Given the description of an element on the screen output the (x, y) to click on. 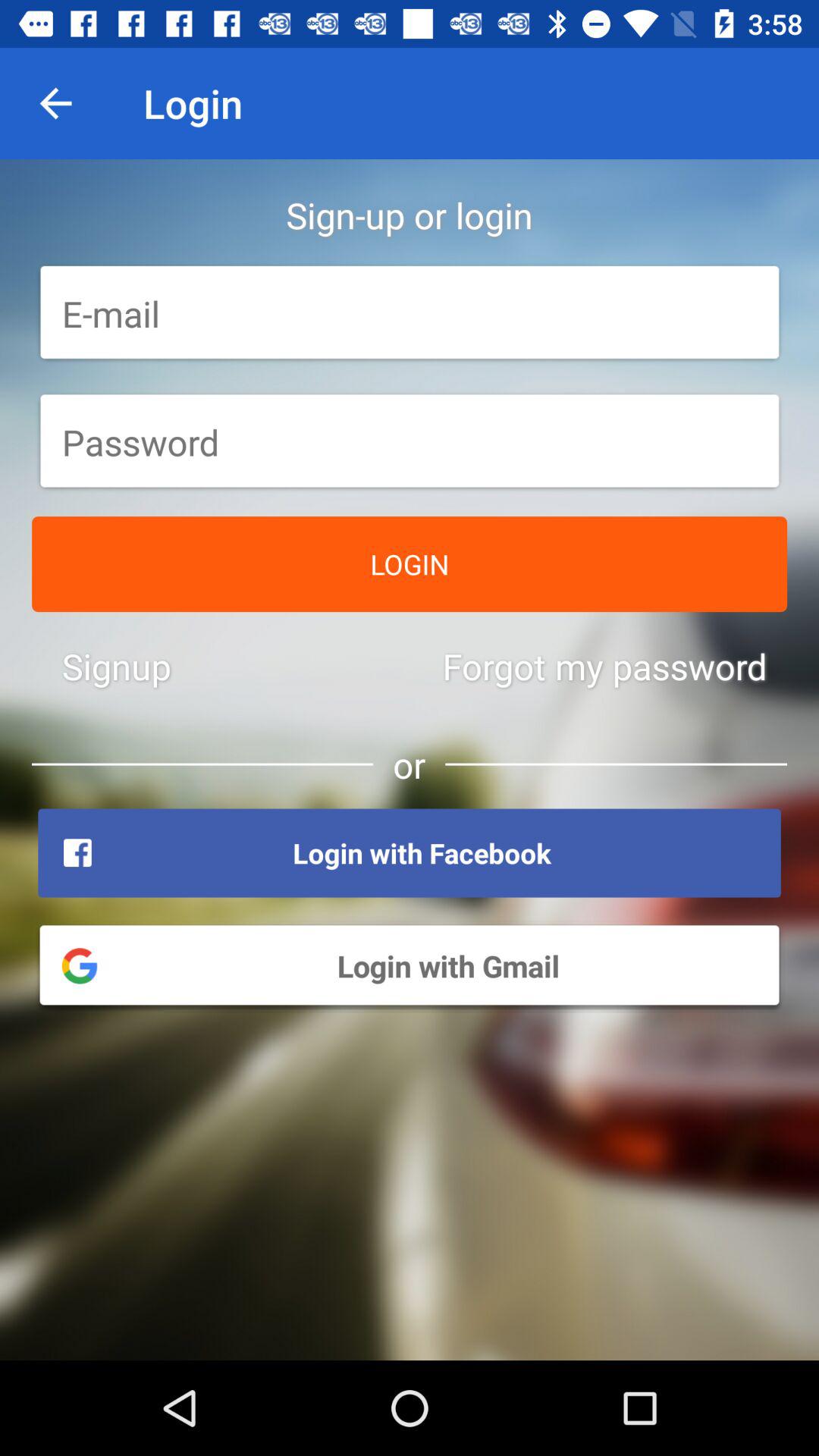
turn on icon above the login item (409, 442)
